Given the description of an element on the screen output the (x, y) to click on. 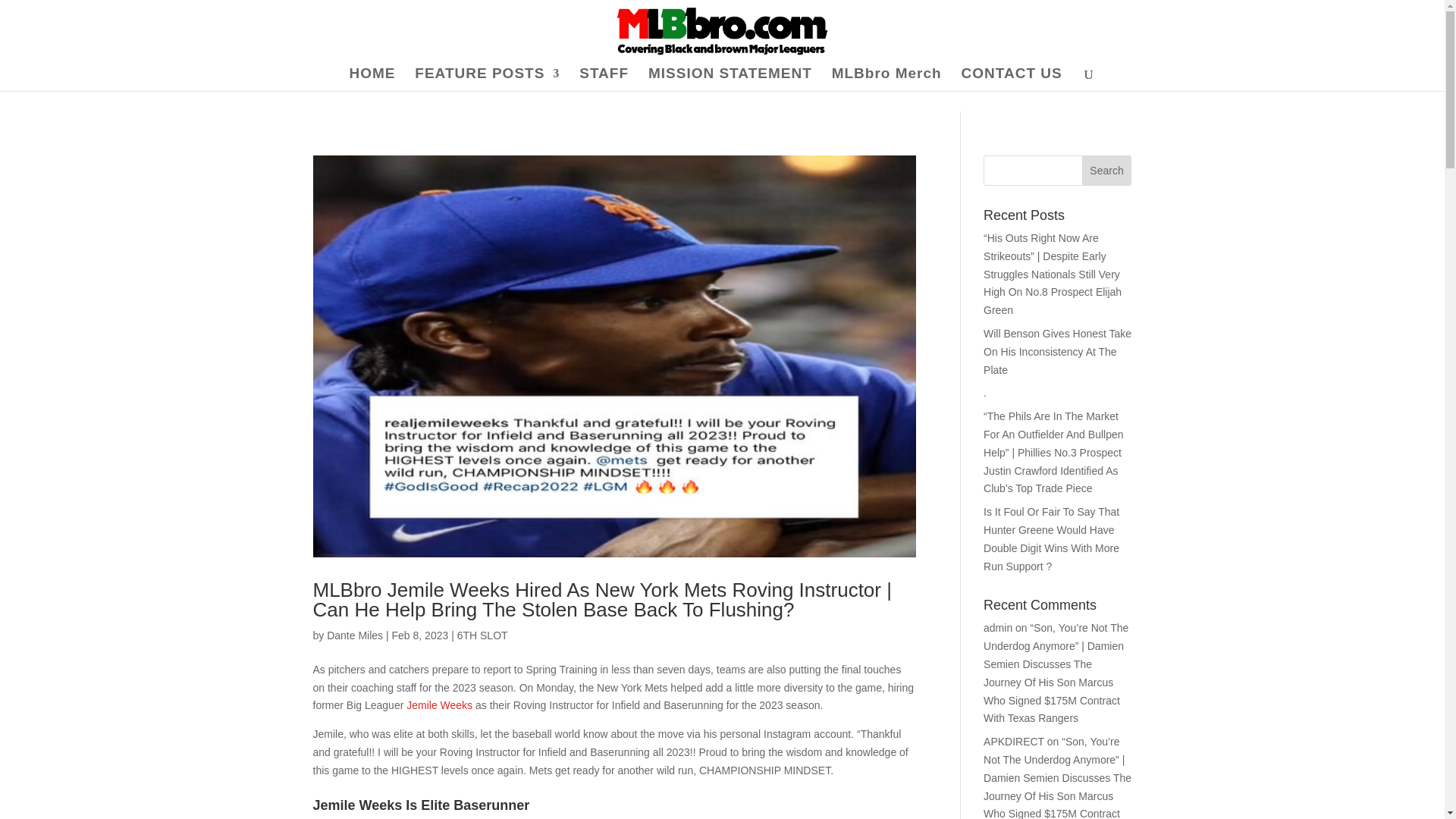
Search (1106, 170)
Dante Miles (354, 635)
MISSION STATEMENT (729, 78)
HOME (371, 78)
Jemile Weeks (438, 705)
MLBbro Merch (886, 78)
CONTACT US (1011, 78)
6TH SLOT (482, 635)
Search (1106, 170)
Posts by Dante Miles (354, 635)
FEATURE POSTS (486, 78)
STAFF (603, 78)
